Given the description of an element on the screen output the (x, y) to click on. 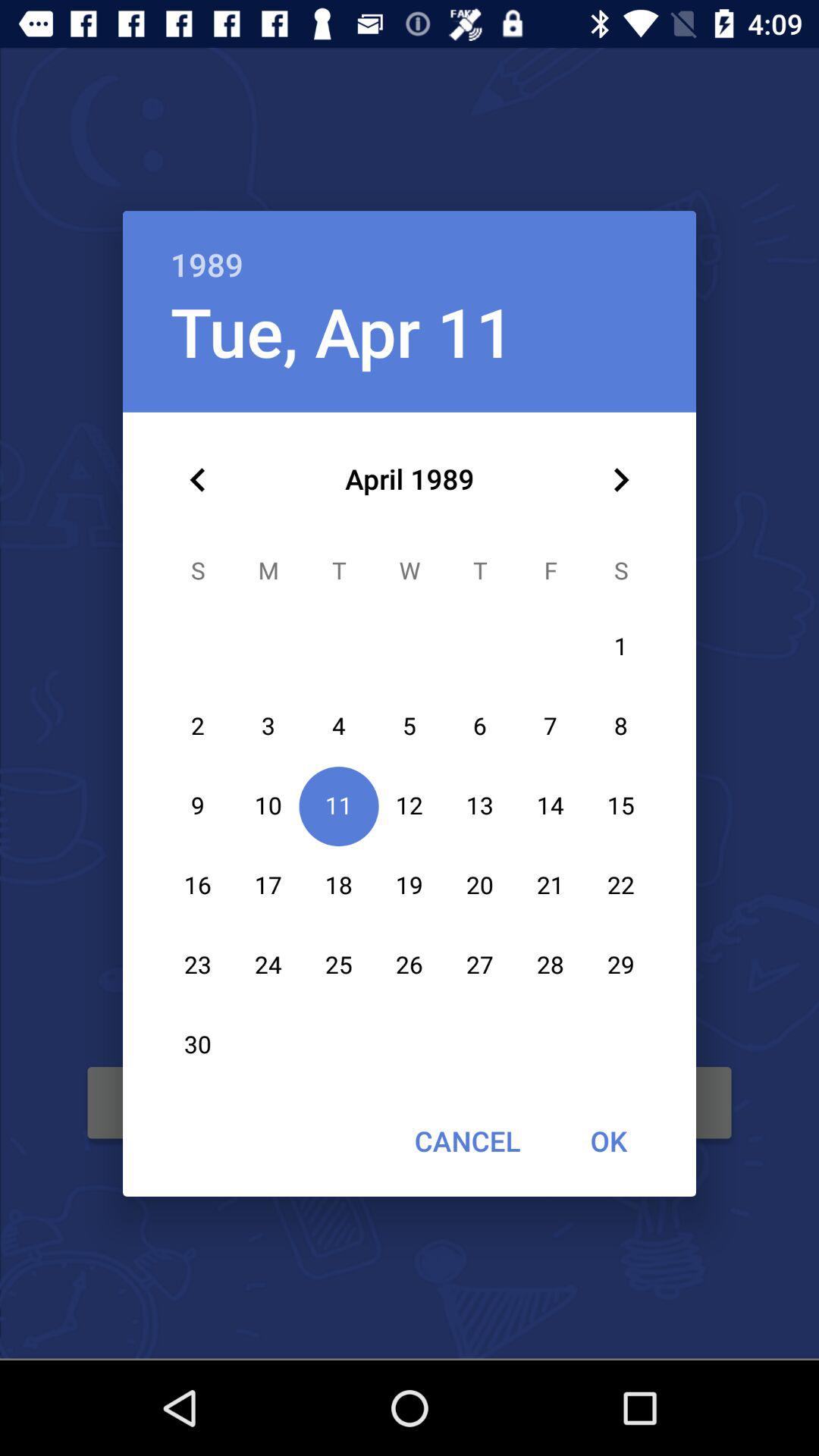
scroll to the 1989 (409, 248)
